Given the description of an element on the screen output the (x, y) to click on. 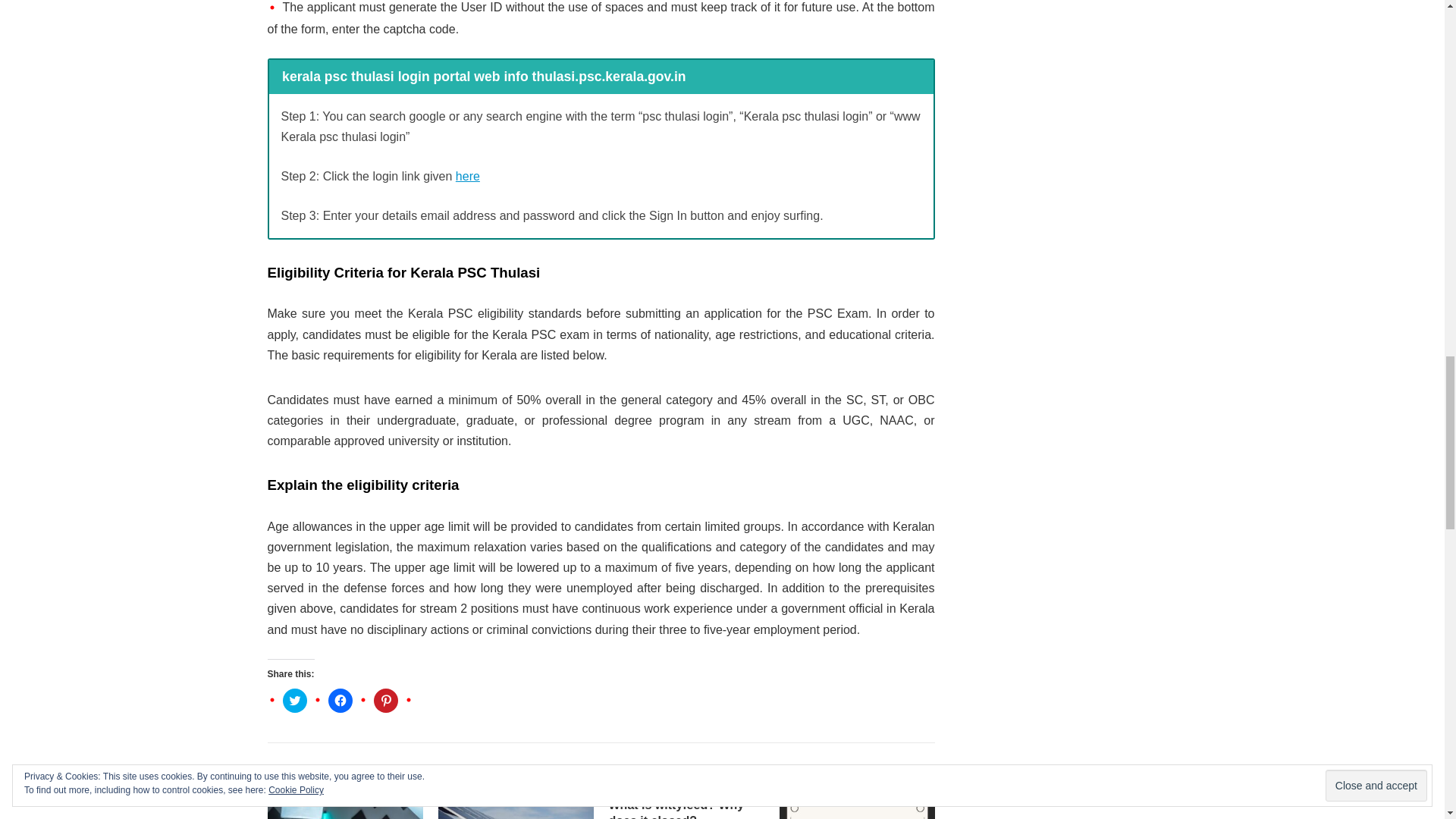
Click to share on Twitter (293, 700)
Click to share on Pinterest (384, 700)
Click to share on Facebook (339, 700)
